Given the description of an element on the screen output the (x, y) to click on. 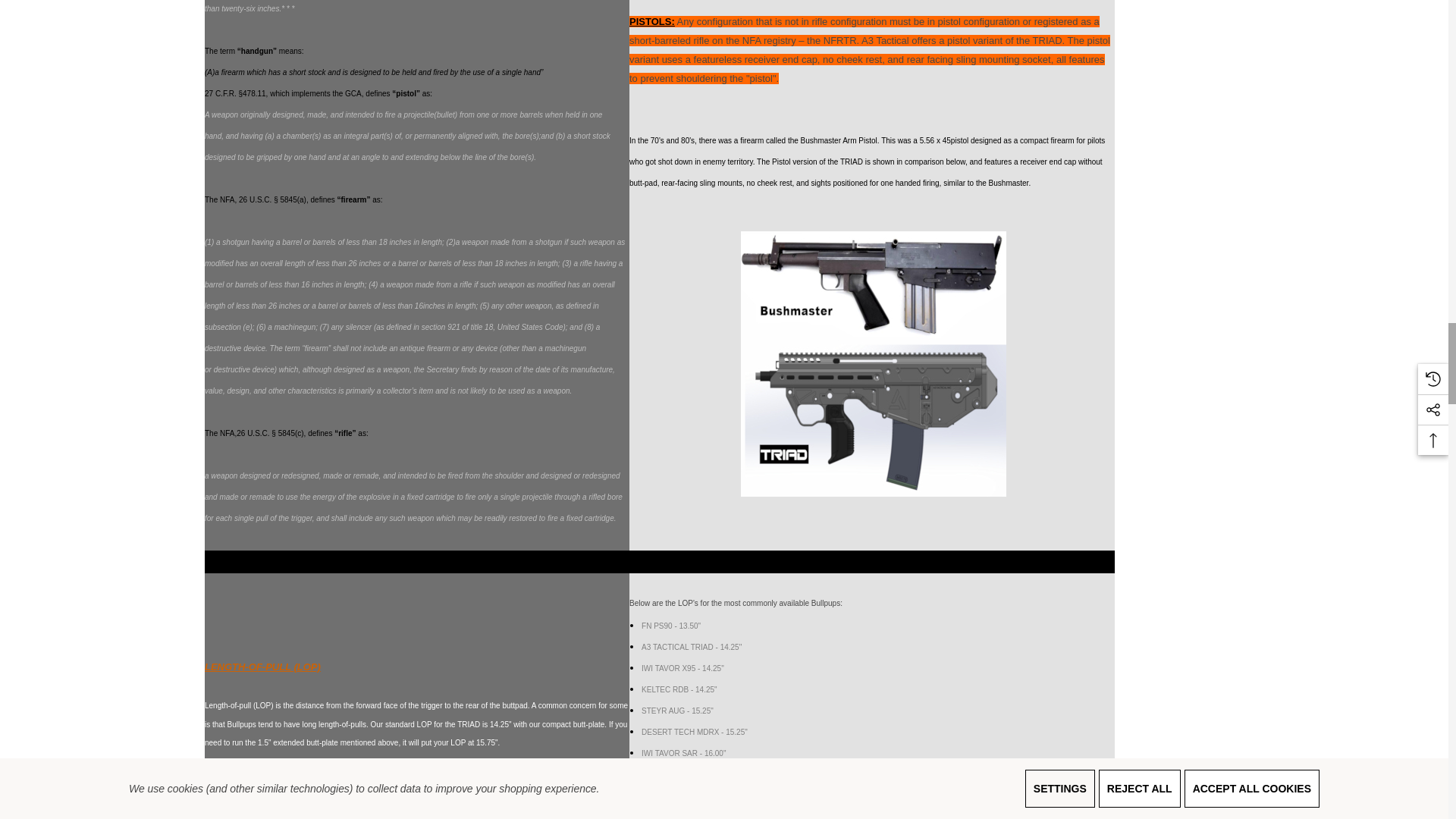
image16-350.jpg (873, 363)
